Given the description of an element on the screen output the (x, y) to click on. 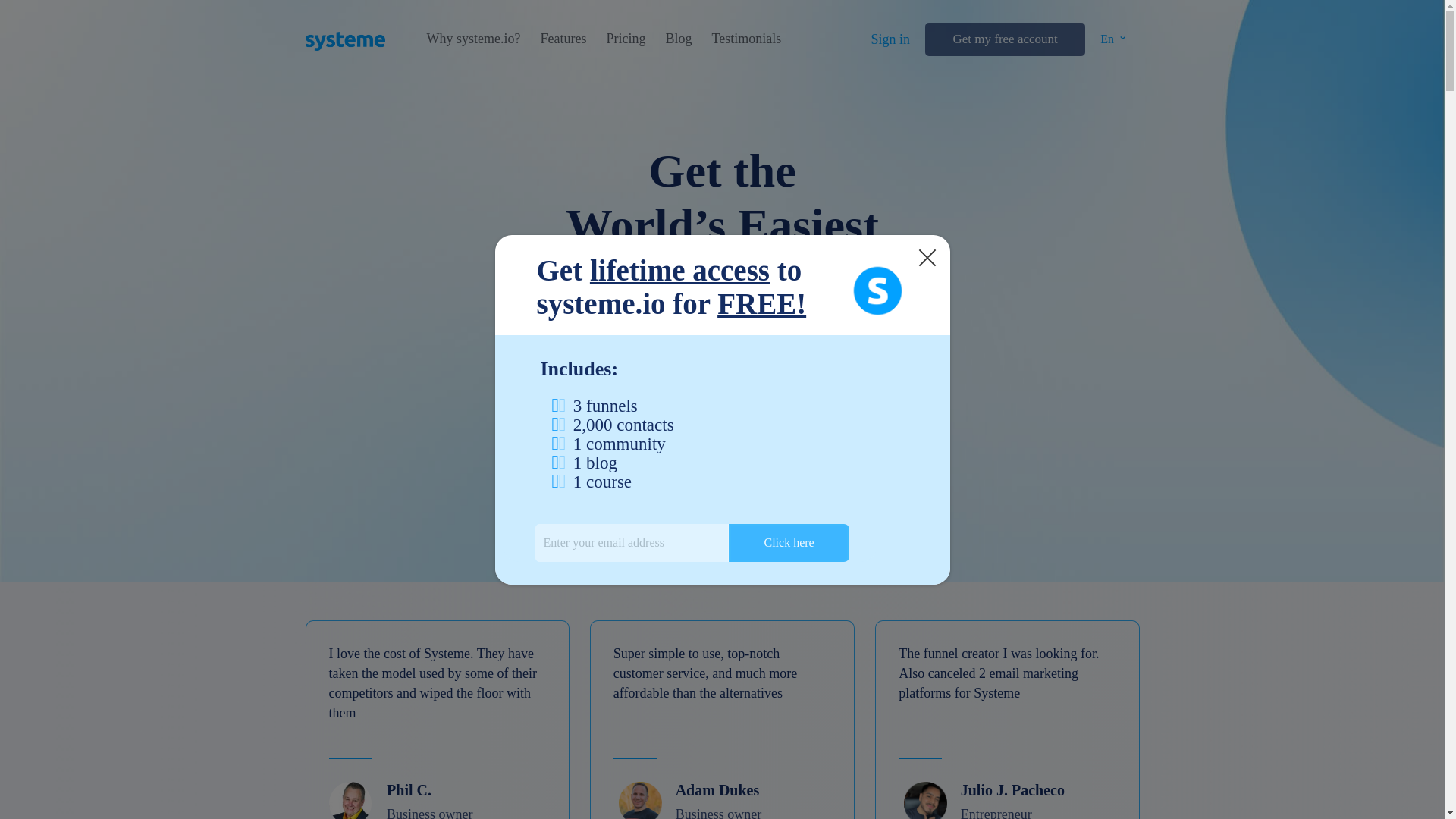
Why systeme.io? (472, 38)
Testimonials (745, 38)
Get my free account (1004, 39)
Blog (678, 38)
Pricing (625, 38)
Features (563, 38)
Sign in (890, 39)
